Given the description of an element on the screen output the (x, y) to click on. 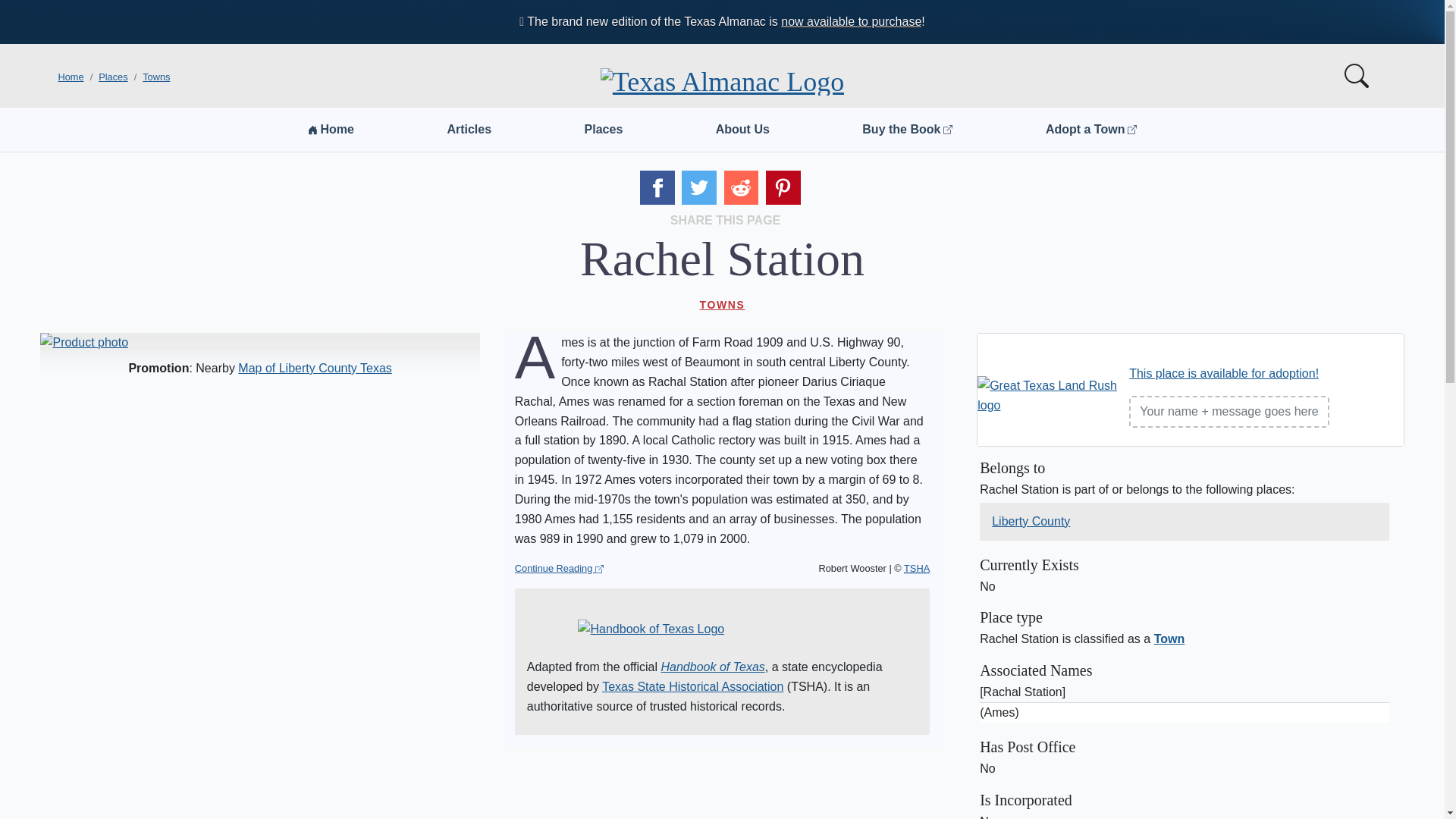
Home (70, 76)
Town (1169, 638)
About Us (743, 129)
Texas State Historical Association (692, 686)
Articles (469, 129)
Home (330, 129)
Continue Reading (559, 569)
Texas State Historical Association (917, 568)
Places (113, 76)
TSHA (917, 568)
now available to purchase (850, 21)
This place is available for adoption! (1224, 373)
Map of Liberty County Texas (314, 367)
Adopt a Town (1090, 129)
Places (603, 129)
